Given the description of an element on the screen output the (x, y) to click on. 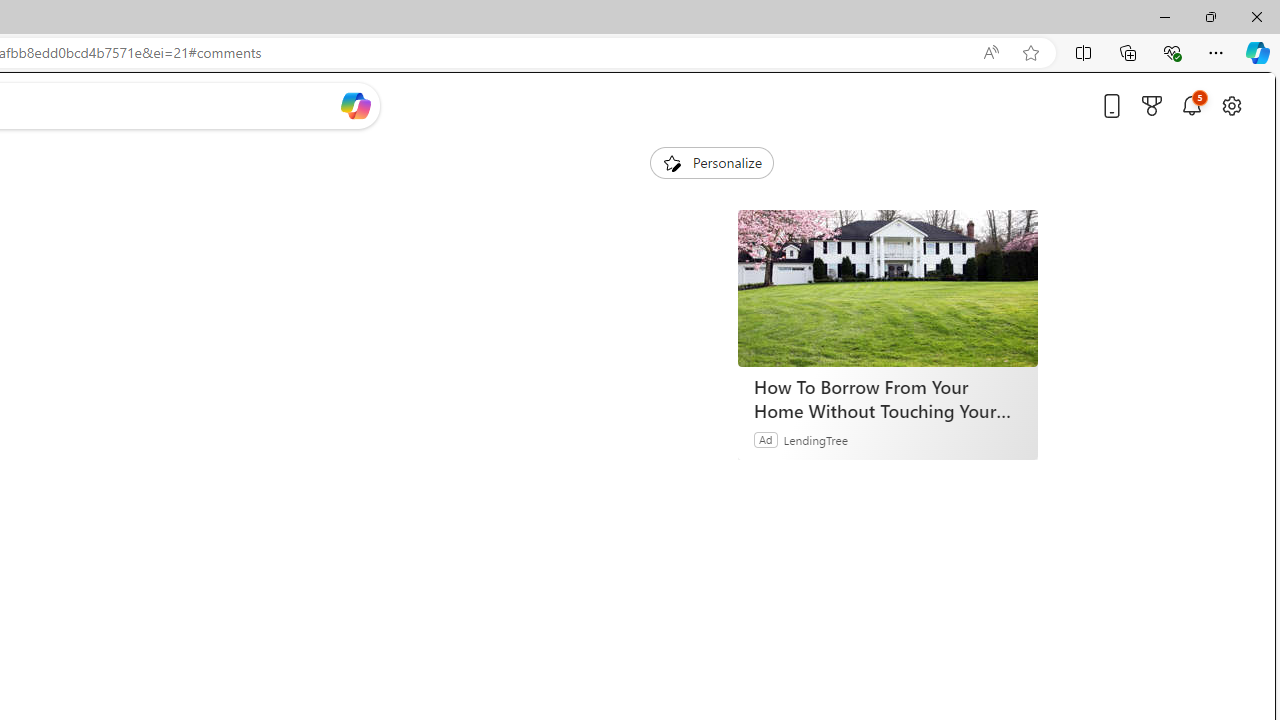
Open settings (1231, 105)
Microsoft rewards (1151, 105)
How To Borrow From Your Home Without Touching Your Mortgage (888, 288)
LendingTree (815, 439)
To get missing image descriptions, open the context menu. (671, 162)
